Given the description of an element on the screen output the (x, y) to click on. 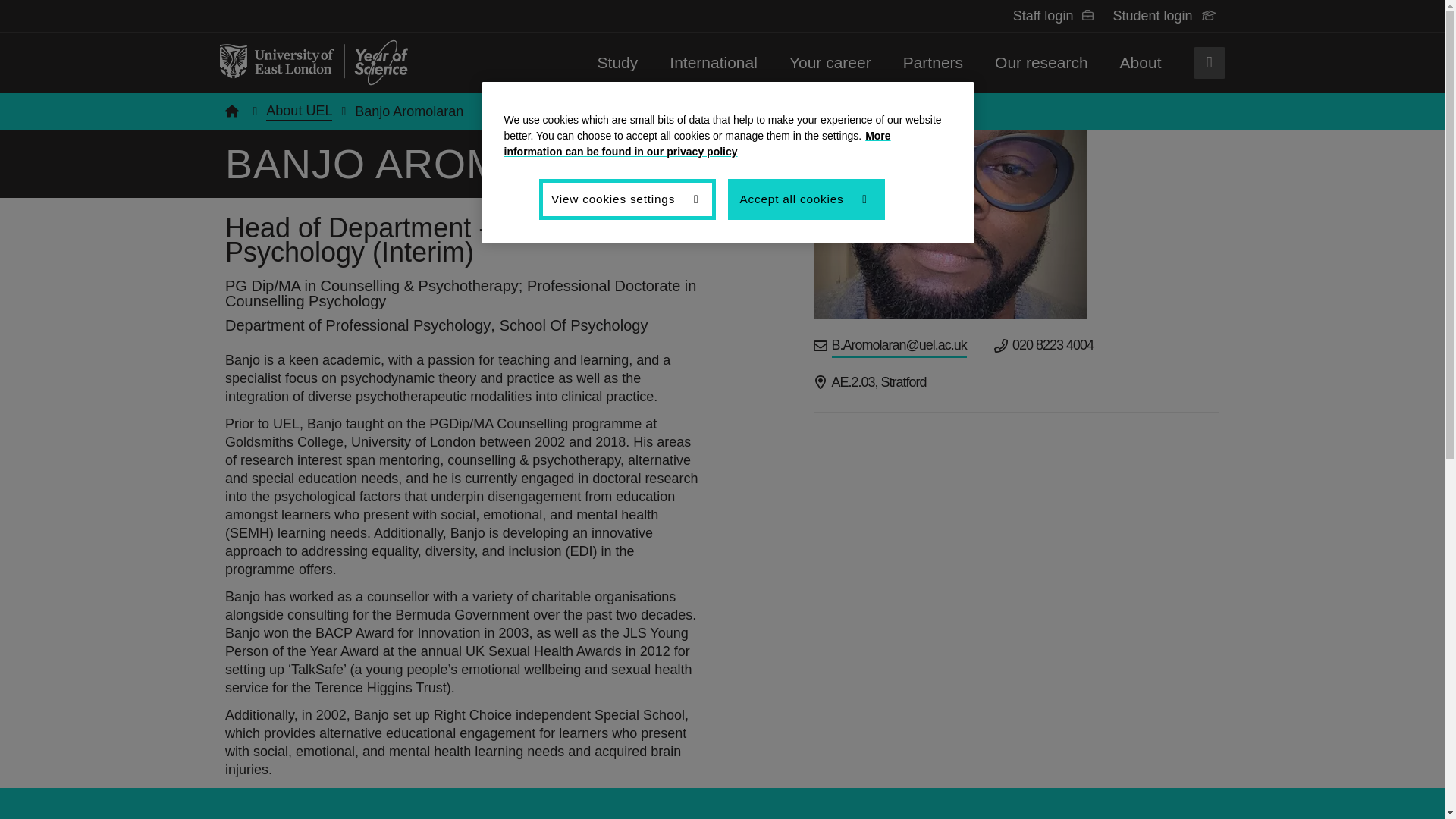
Staff login (1043, 15)
International (713, 62)
University of East London (313, 62)
Study (617, 62)
Student login (1152, 15)
